Given the description of an element on the screen output the (x, y) to click on. 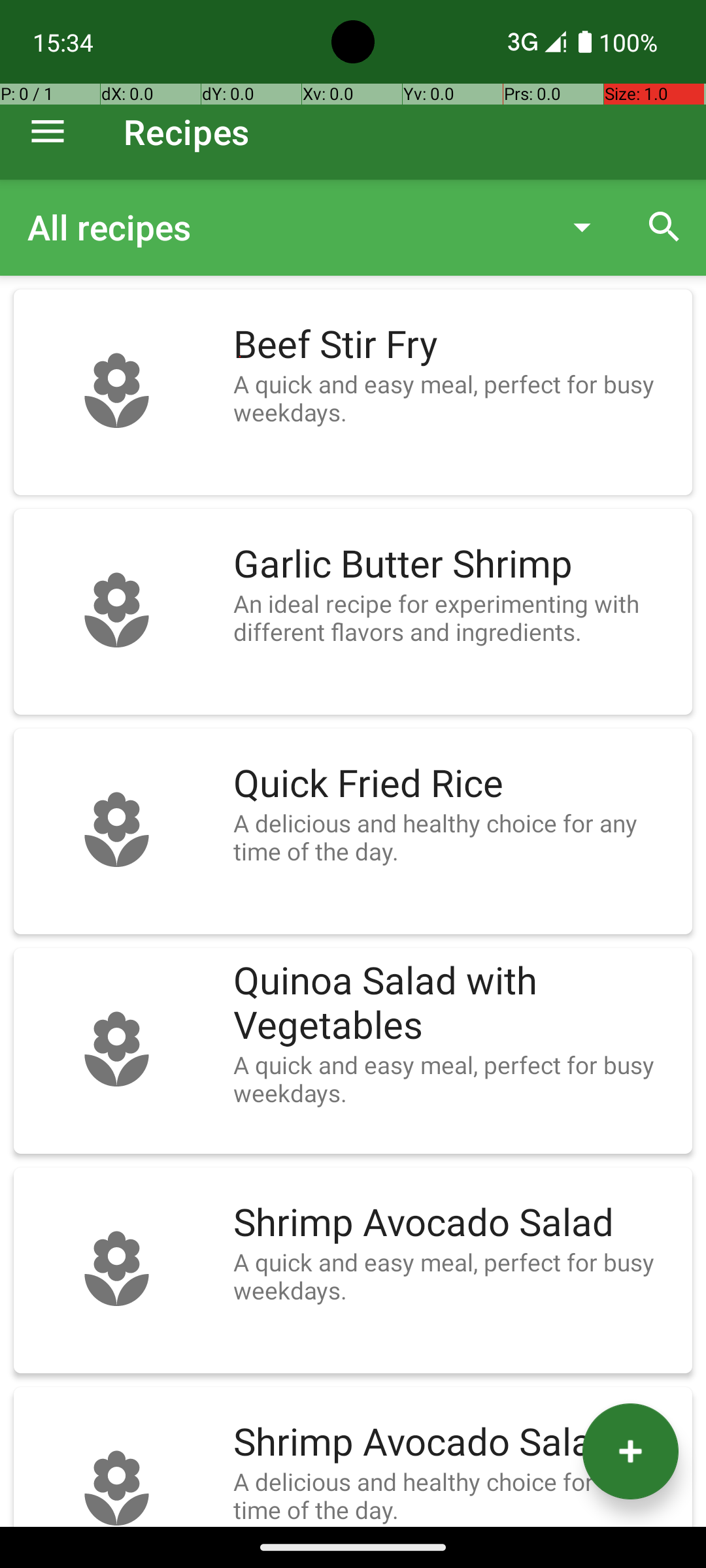
New Recipe Element type: android.widget.ImageButton (630, 1451)
All recipes Element type: android.widget.TextView (283, 226)
Recipe photo Element type: android.widget.ImageView (116, 392)
Beef Stir Fry Element type: android.widget.TextView (455, 344)
A quick and easy meal, perfect for busy weekdays. Element type: android.widget.TextView (455, 397)
Garlic Butter Shrimp Element type: android.widget.TextView (455, 564)
An ideal recipe for experimenting with different flavors and ingredients. Element type: android.widget.TextView (455, 617)
Quick Fried Rice Element type: android.widget.TextView (455, 783)
A delicious and healthy choice for any time of the day. Element type: android.widget.TextView (455, 836)
Quinoa Salad with Vegetables Element type: android.widget.TextView (455, 1003)
Shrimp Avocado Salad Element type: android.widget.TextView (455, 1222)
